Given the description of an element on the screen output the (x, y) to click on. 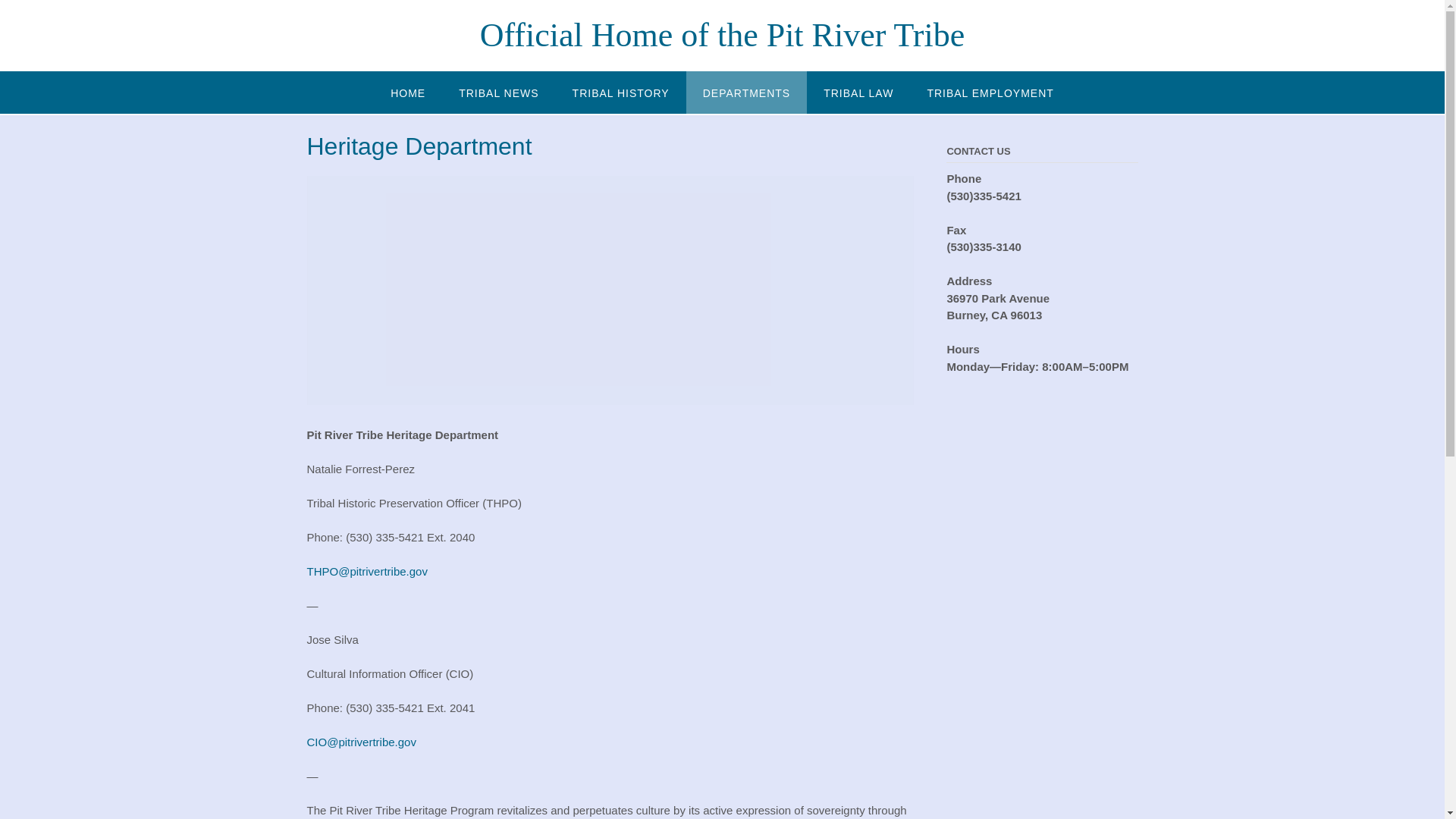
TRIBAL EMPLOYMENT (990, 92)
TRIBAL NEWS (498, 92)
Official Home of the Pit River Tribe (722, 35)
TRIBAL LAW (858, 92)
HOME (408, 92)
TRIBAL HISTORY (620, 92)
Official Home of the Pit River Tribe (722, 35)
DEPARTMENTS (746, 92)
